Given the description of an element on the screen output the (x, y) to click on. 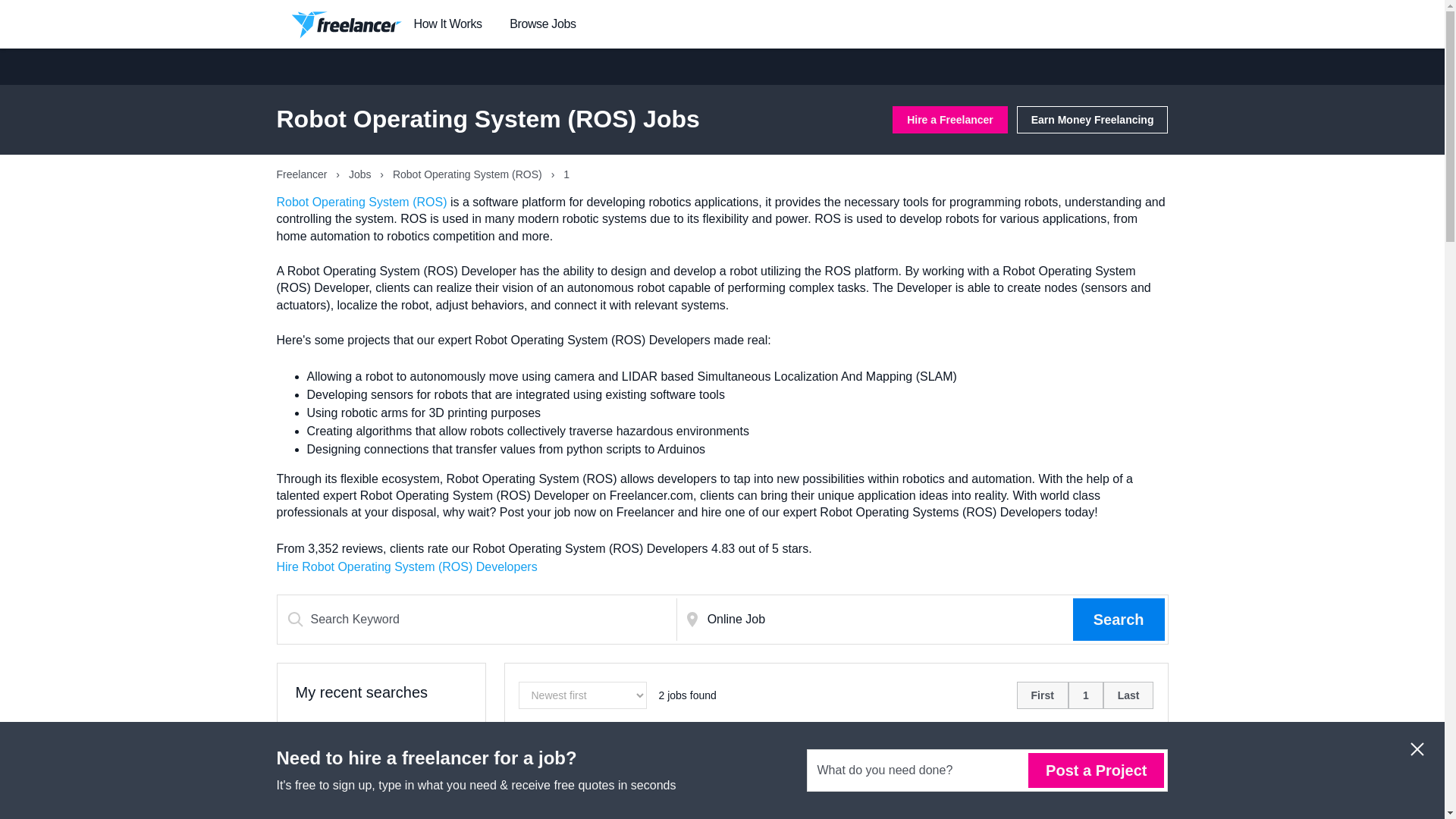
Search (1118, 619)
Browse Jobs (542, 24)
1 (1085, 695)
Earn Money Freelancing (1092, 119)
Hire a Freelancer (949, 119)
Jobs (361, 174)
Last (1128, 695)
First (1042, 695)
How It Works (447, 24)
Online Job (887, 619)
